Given the description of an element on the screen output the (x, y) to click on. 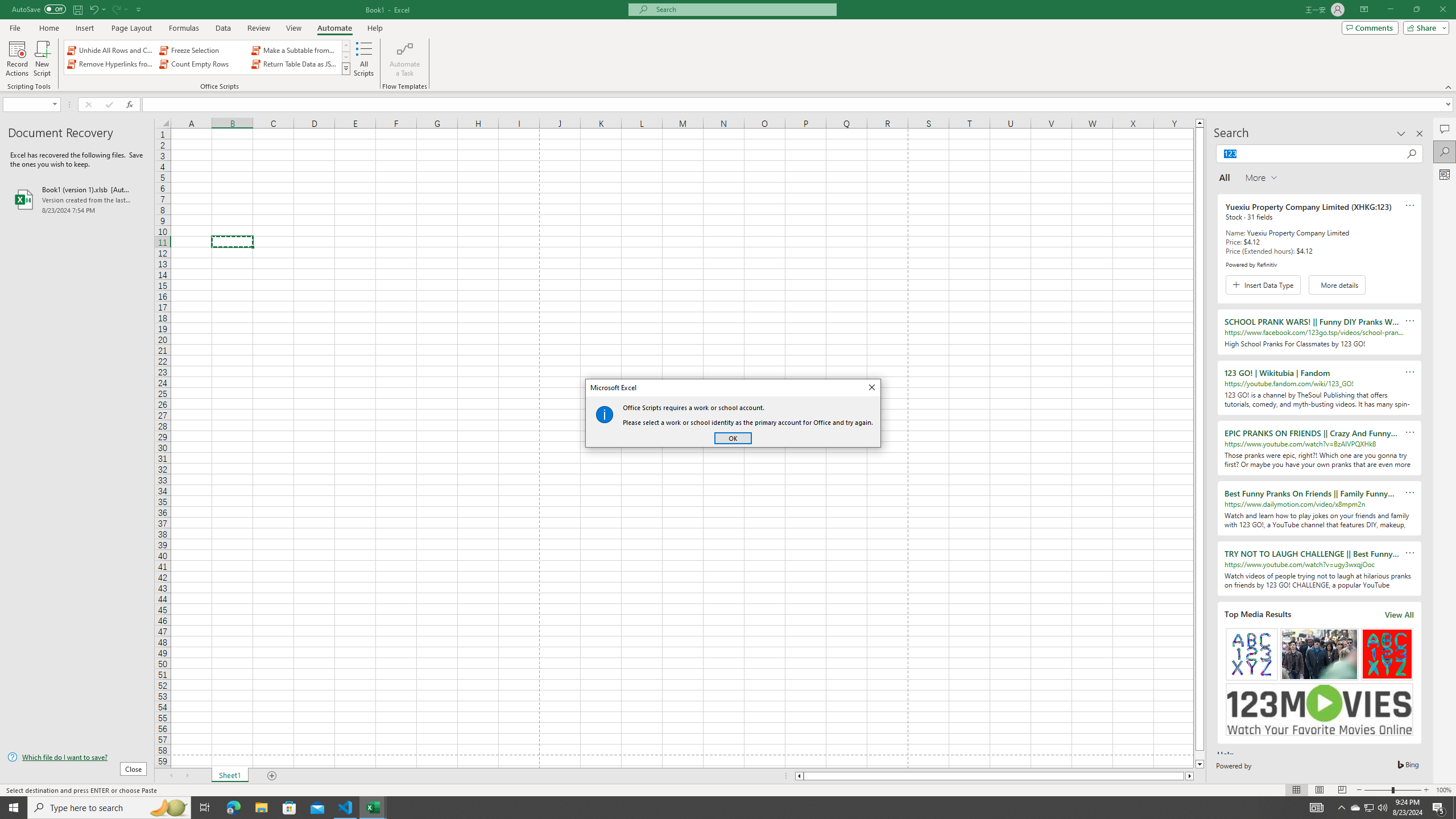
Record Actions (17, 58)
Search highlights icon opens search home window (167, 807)
AutomationID: 4105 (1316, 807)
